Given the description of an element on the screen output the (x, y) to click on. 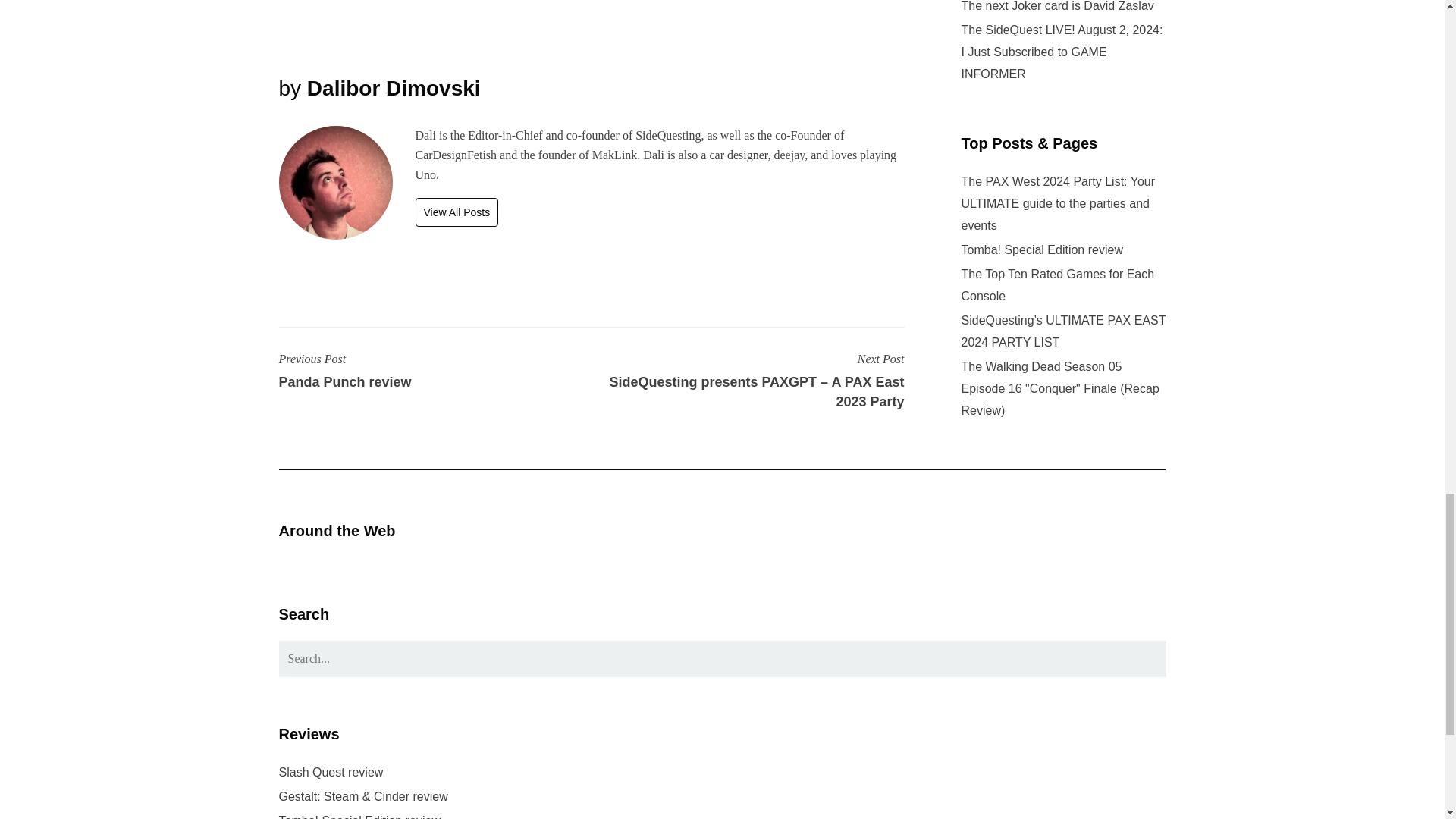
Panda Punch review (435, 383)
View All Posts (456, 212)
